Given the description of an element on the screen output the (x, y) to click on. 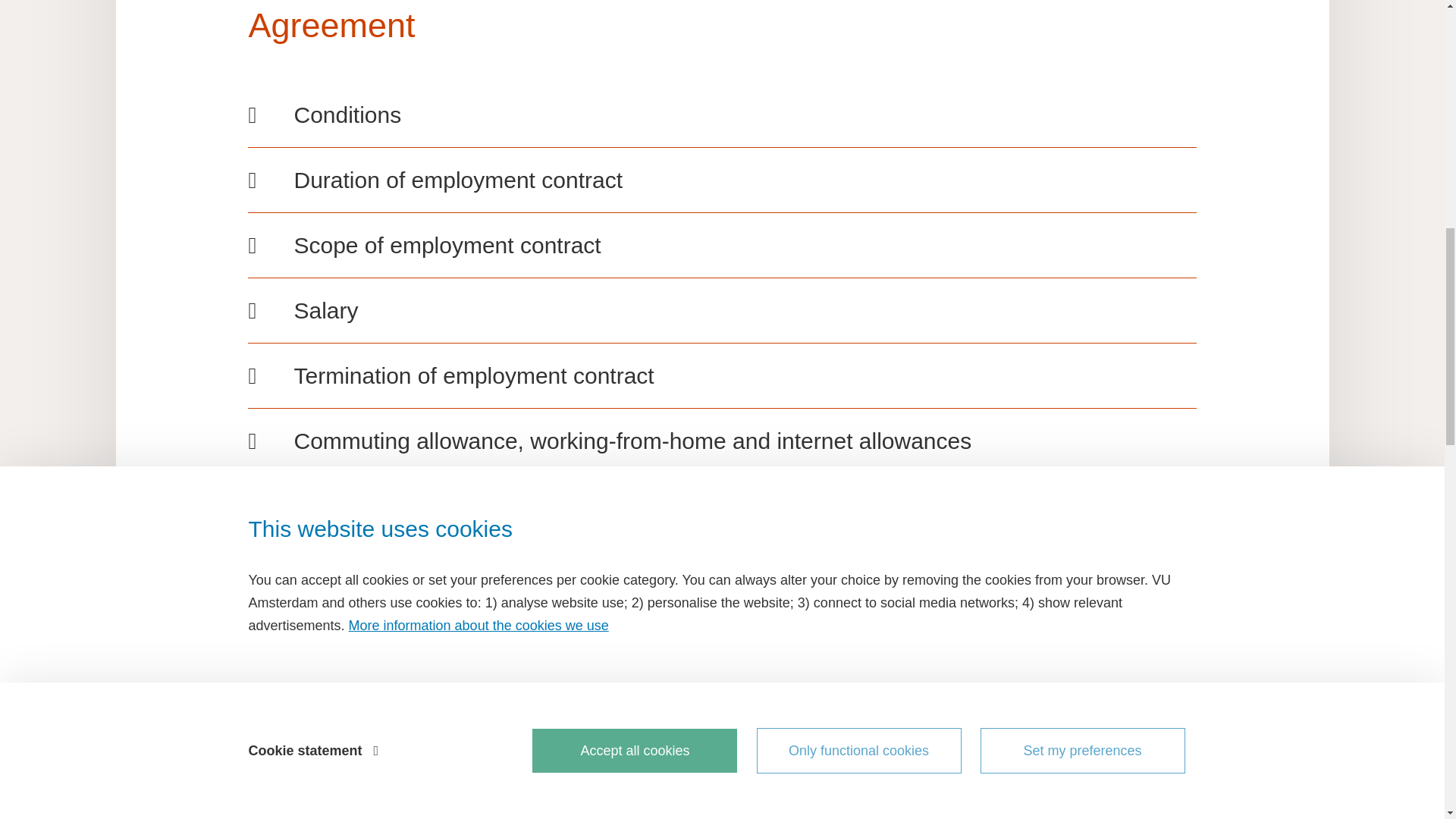
Holidays (721, 571)
Duration of employment contract (721, 179)
International student-assistants (721, 766)
Scope of employment contract (721, 245)
Salary (721, 310)
Conditions (721, 114)
Illness (721, 636)
Termination of employment contract (721, 375)
ABP Pension (721, 505)
Intellectual property (721, 701)
